Given the description of an element on the screen output the (x, y) to click on. 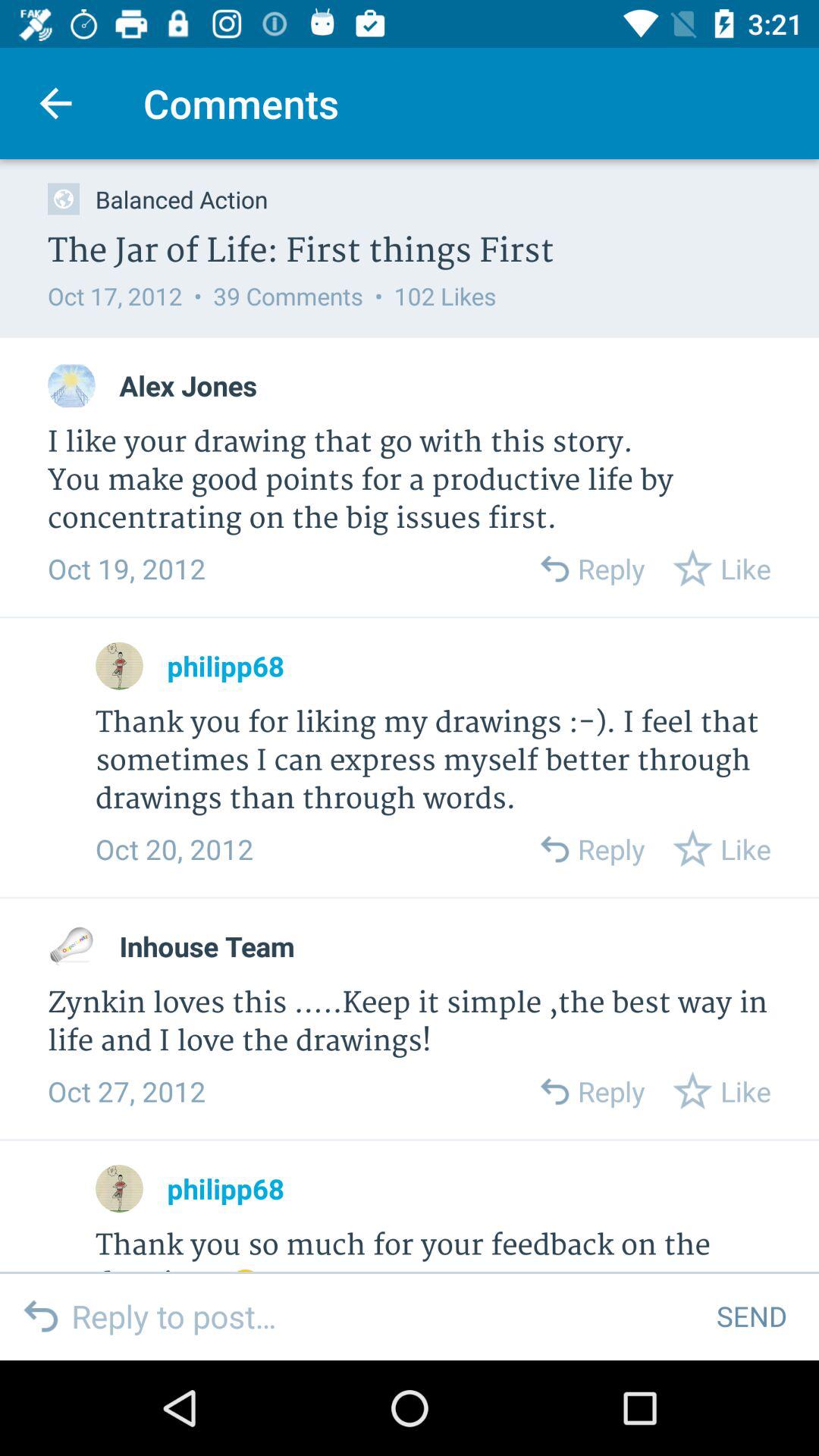
reply (553, 849)
